Given the description of an element on the screen output the (x, y) to click on. 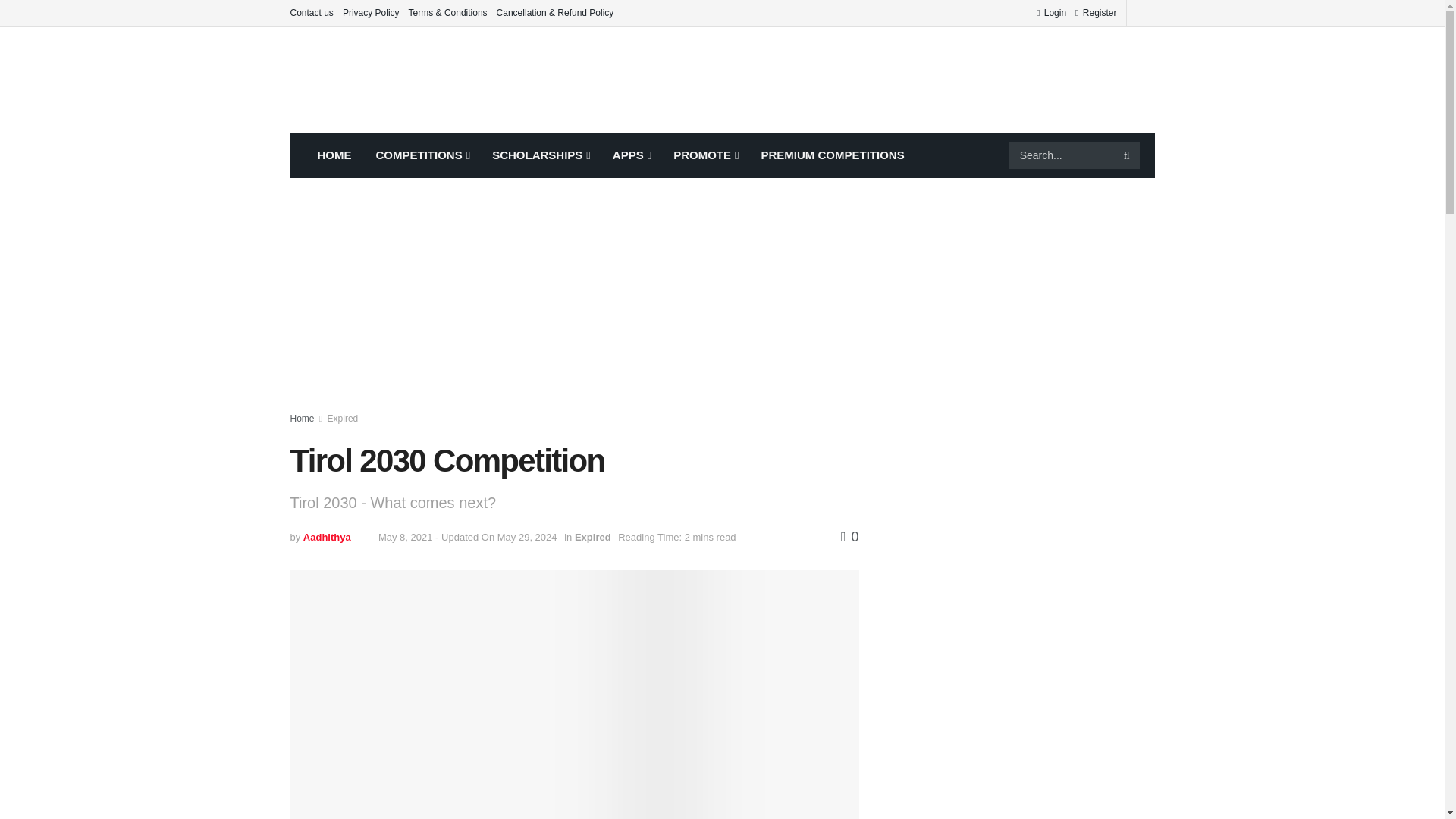
PROMOTE (704, 155)
Login (1050, 12)
Contact us (311, 12)
COMPETITIONS (422, 155)
SCHOLARSHIPS (539, 155)
PREMIUM COMPETITIONS (833, 155)
HOME (333, 155)
Privacy Policy (370, 12)
APPS (630, 155)
Register (1095, 12)
